Given the description of an element on the screen output the (x, y) to click on. 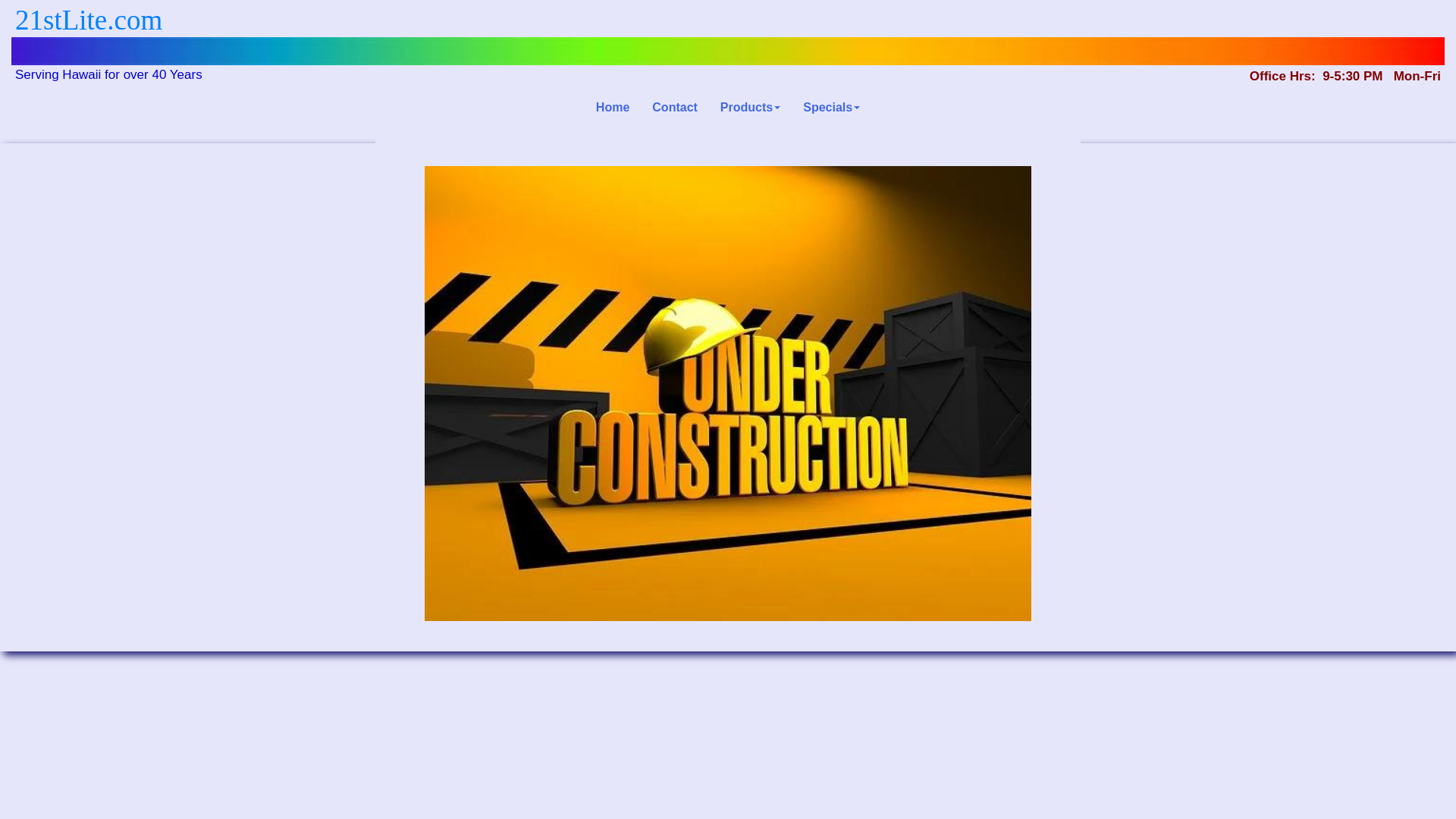
Contact Element type: text (674, 115)
Home Element type: text (612, 115)
Specials Element type: text (831, 115)
Products Element type: text (750, 115)
